Given the description of an element on the screen output the (x, y) to click on. 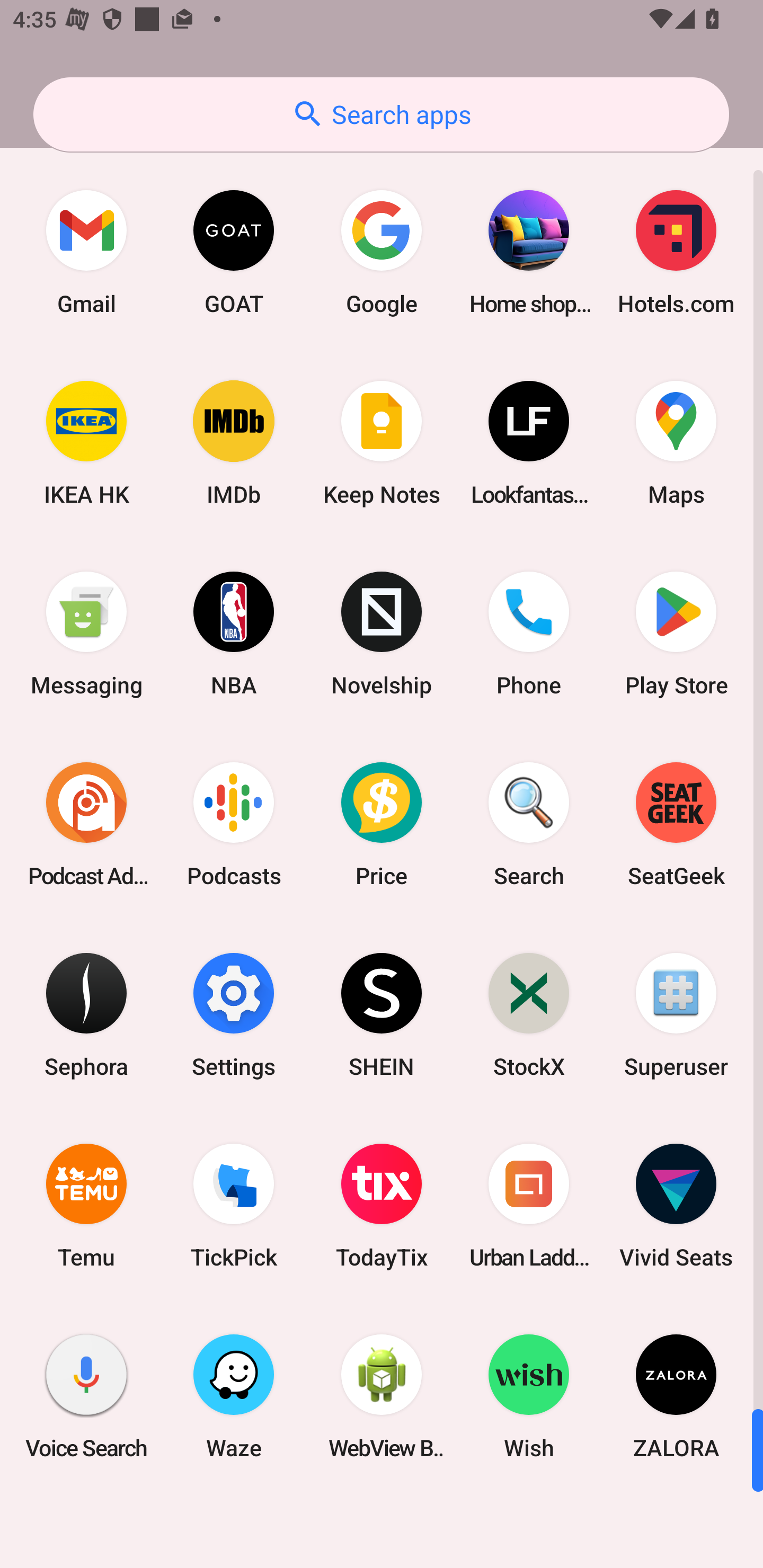
  Search apps (381, 114)
Gmail (86, 252)
GOAT (233, 252)
Google (381, 252)
Home shopping (528, 252)
Hotels.com (676, 252)
IKEA HK (86, 442)
IMDb (233, 442)
Keep Notes (381, 442)
Lookfantastic (528, 442)
Maps (676, 442)
Messaging (86, 633)
NBA (233, 633)
Novelship (381, 633)
Phone (528, 633)
Play Store (676, 633)
Podcast Addict (86, 823)
Podcasts (233, 823)
Price (381, 823)
Search (528, 823)
SeatGeek (676, 823)
Sephora (86, 1014)
Settings (233, 1014)
SHEIN (381, 1014)
StockX (528, 1014)
Superuser (676, 1014)
Temu (86, 1205)
TickPick (233, 1205)
TodayTix (381, 1205)
Urban Ladder (528, 1205)
Vivid Seats (676, 1205)
Voice Search (86, 1396)
Waze (233, 1396)
WebView Browser Tester (381, 1396)
Wish (528, 1396)
ZALORA (676, 1396)
